Given the description of an element on the screen output the (x, y) to click on. 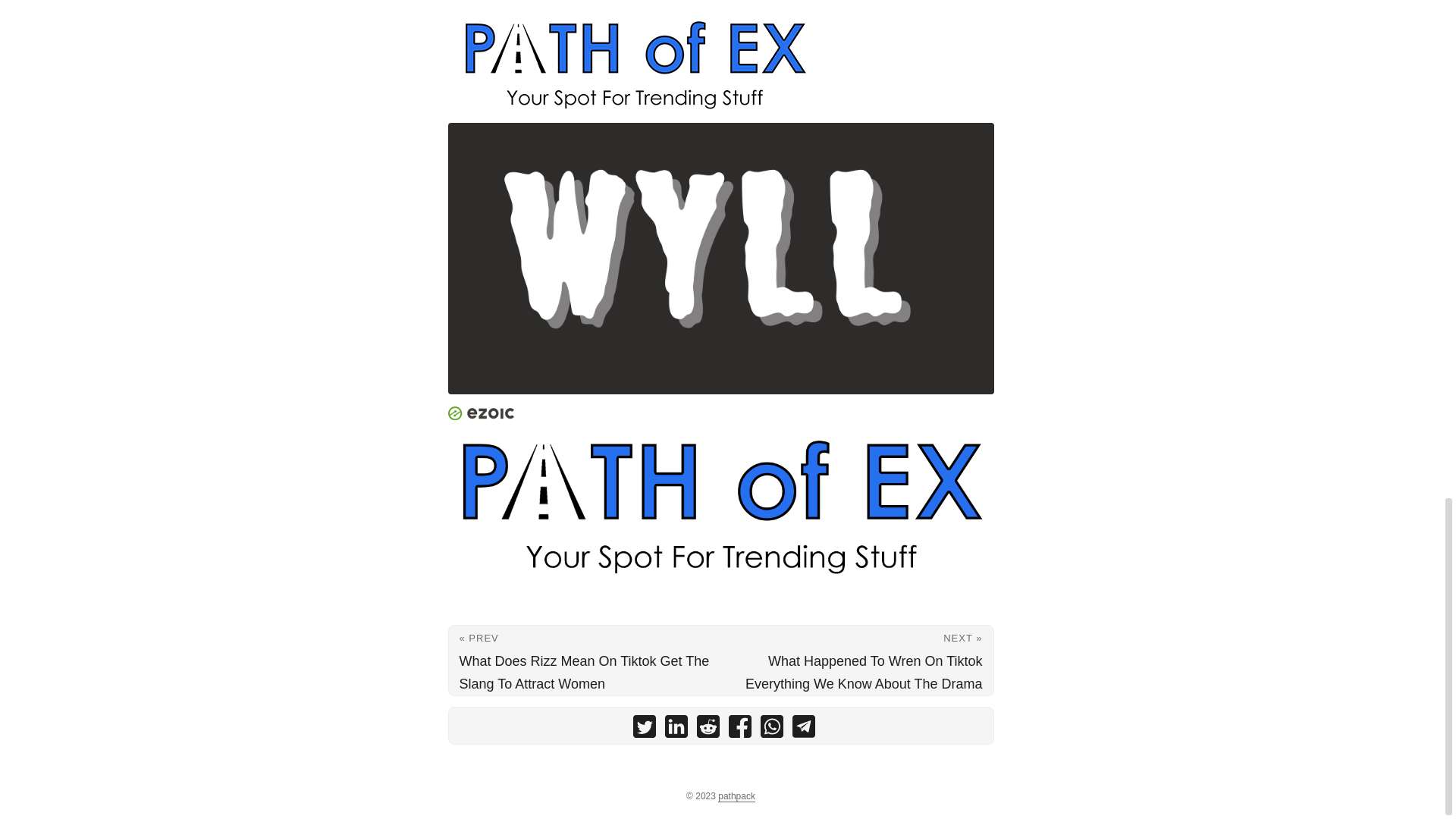
pathpack (736, 796)
